Given the description of an element on the screen output the (x, y) to click on. 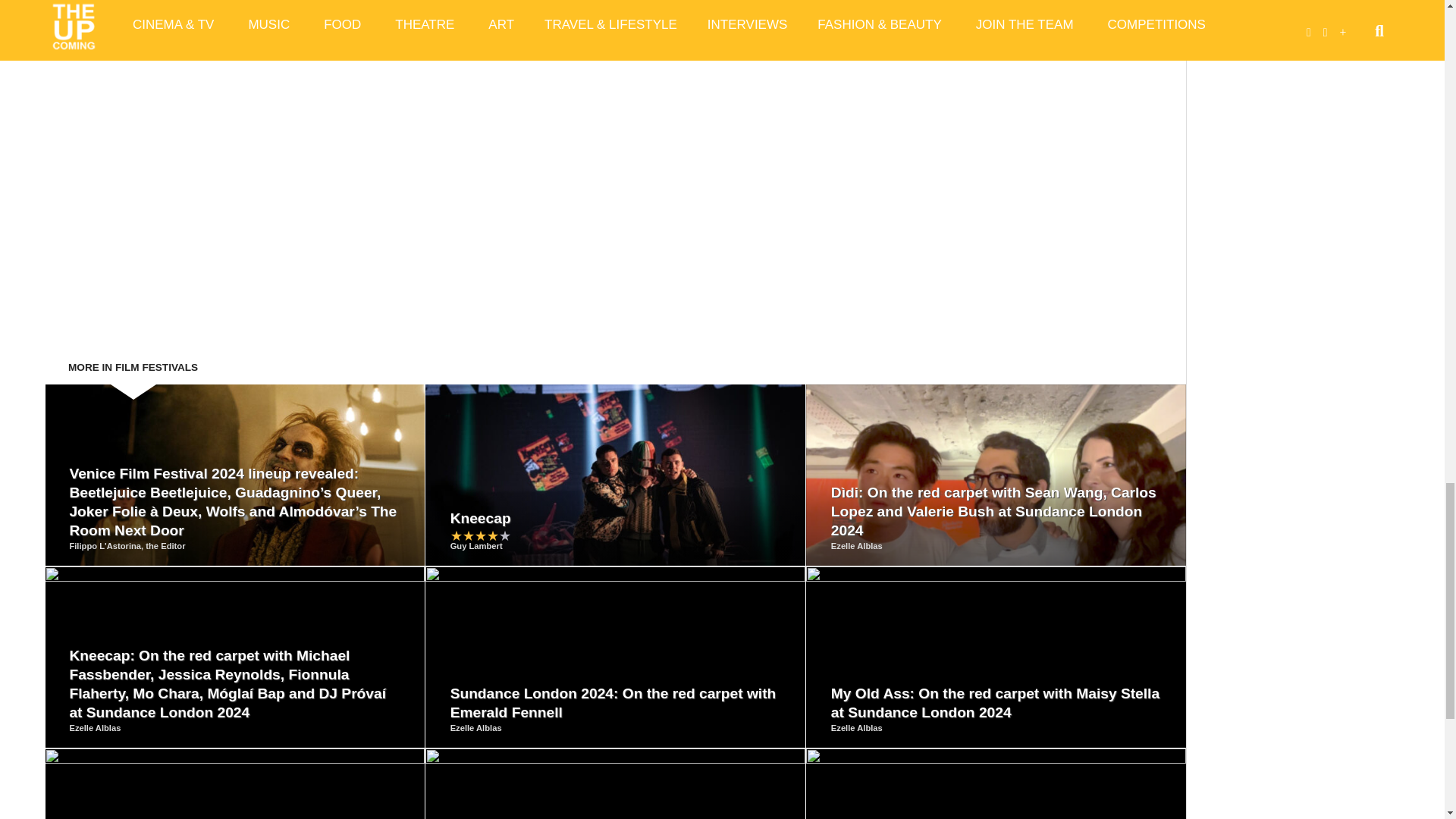
4 out of 5 stars (480, 535)
